Given the description of an element on the screen output the (x, y) to click on. 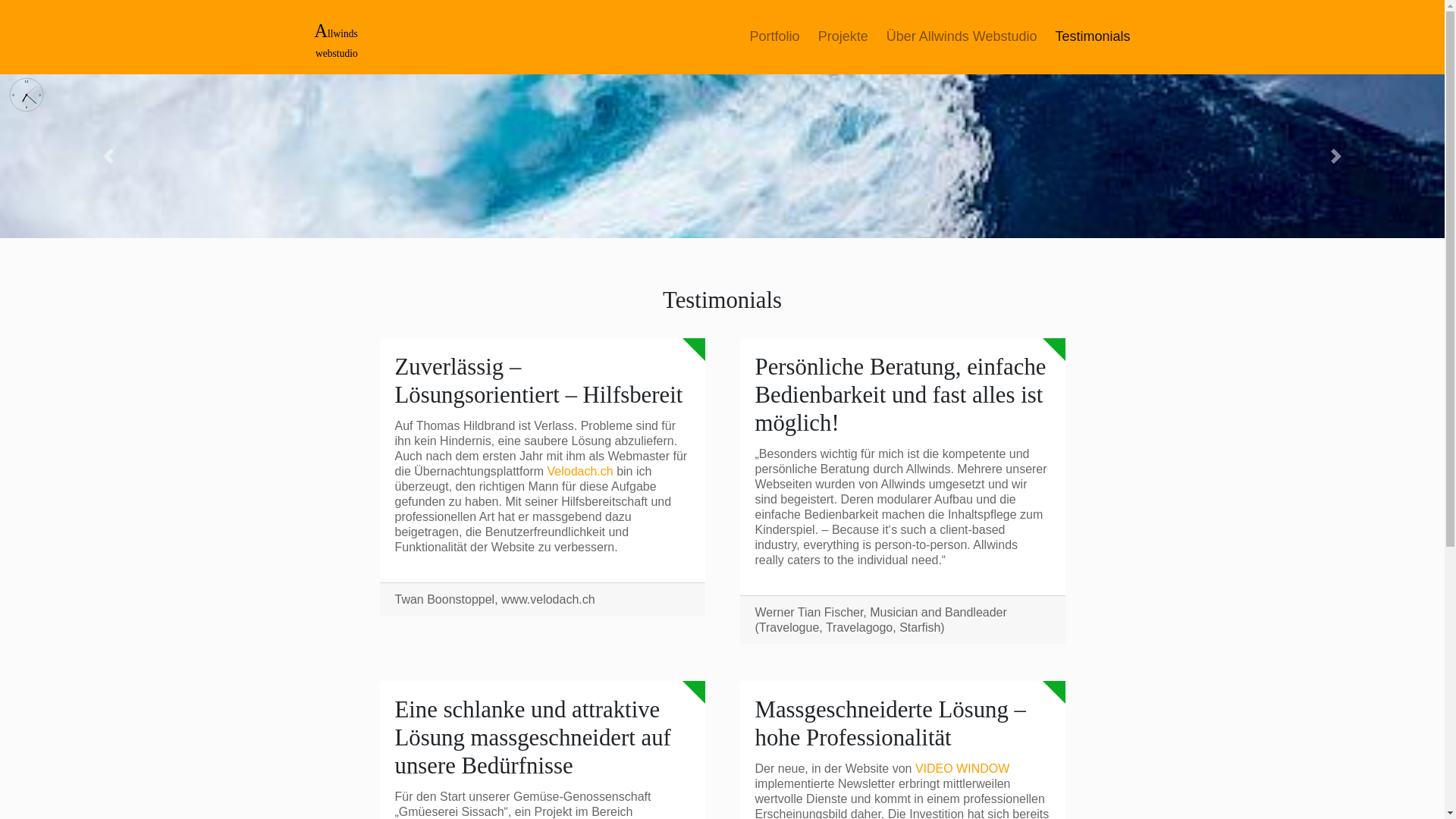
Previous Element type: text (108, 156)
Testimonials Element type: text (1091, 36)
Projekte Element type: text (843, 36)
VIDEO WINDOW Element type: text (962, 768)
Portfolio Element type: text (774, 36)
Velodach.ch Element type: text (580, 470)
Next Element type: text (1335, 156)
